Given the description of an element on the screen output the (x, y) to click on. 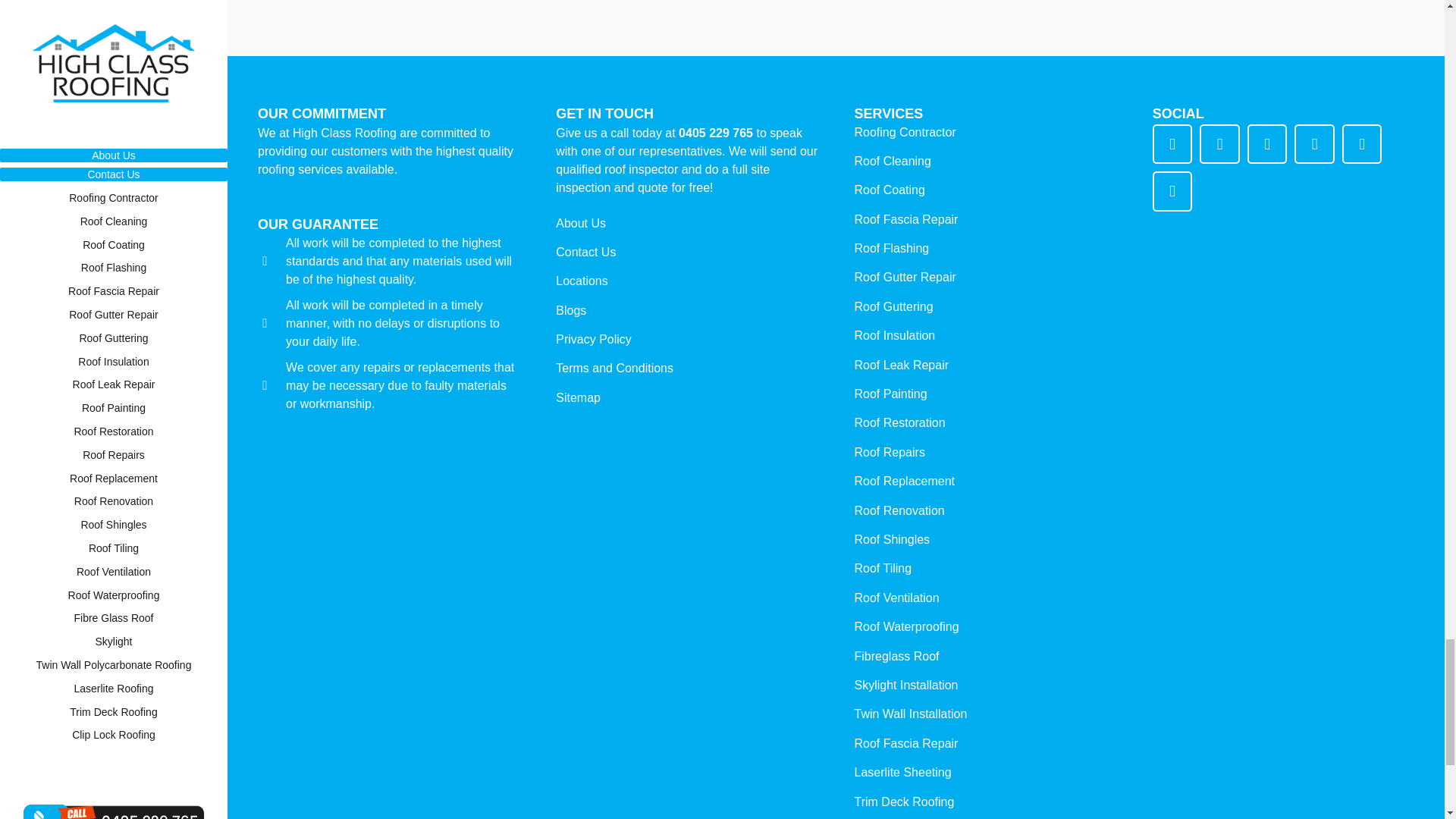
YouTube (1172, 191)
Pinterest (1267, 144)
Tumblr (1361, 144)
Twitter (1219, 144)
Facebook (1172, 144)
Reddit (1314, 144)
